Given the description of an element on the screen output the (x, y) to click on. 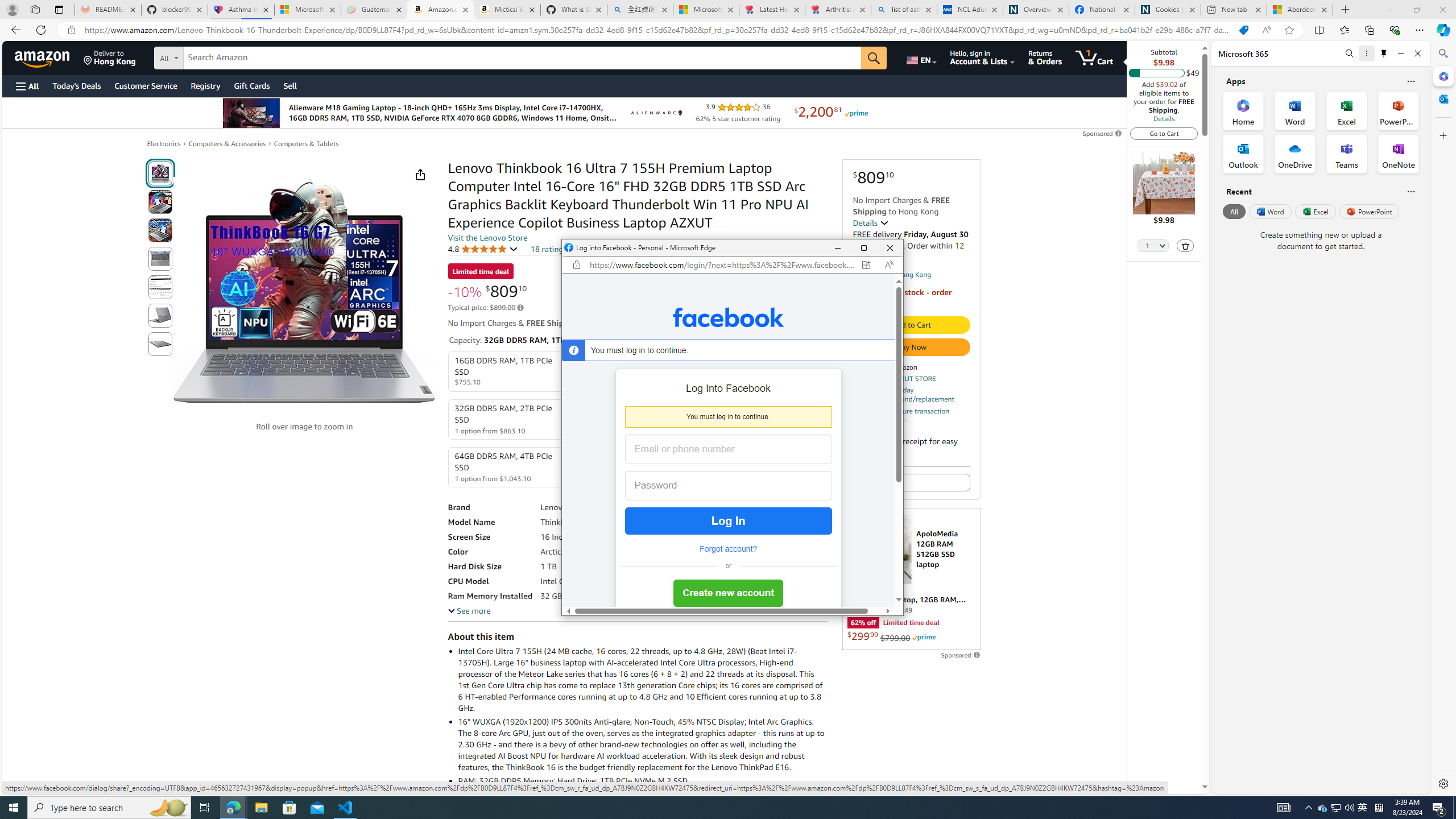
Returns & Orders (1045, 57)
Today's Deals (76, 85)
Delete (1184, 245)
Open Menu (26, 86)
Delete (1185, 245)
OneDrive Office App (1295, 154)
Details  (871, 222)
Notification Chevron (1308, 807)
File Explorer (261, 807)
Learn more about Amazon pricing and savings (520, 307)
Sell (290, 85)
